Given the description of an element on the screen output the (x, y) to click on. 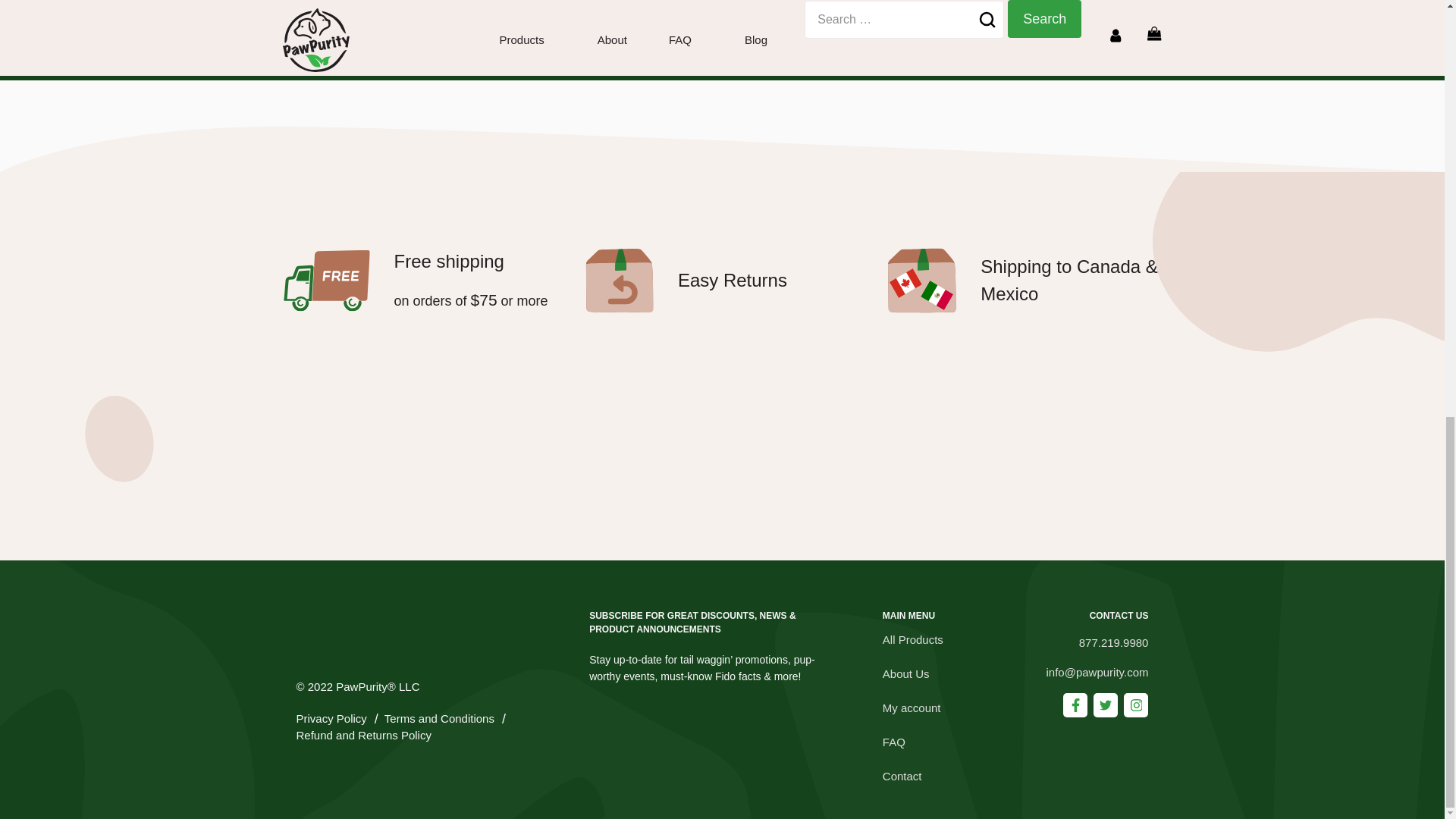
Refund and Returns Policy (362, 735)
Continue reading (365, 32)
Privacy Policy (330, 719)
Terms and Conditions (439, 719)
